Given the description of an element on the screen output the (x, y) to click on. 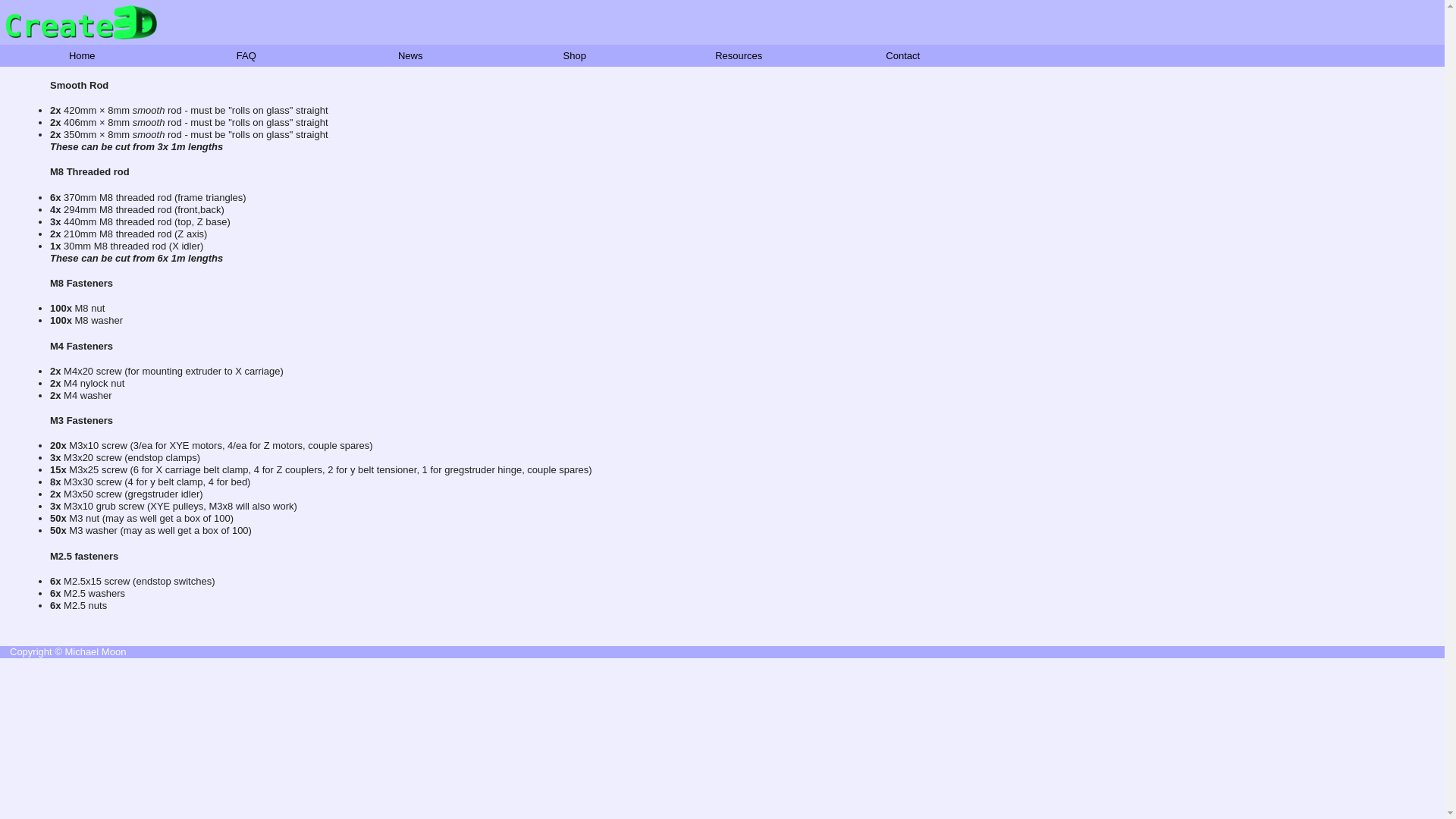
FAQ Element type: text (245, 55)
Resources Element type: text (738, 55)
Shop Element type: text (574, 55)
Contact Element type: text (902, 55)
Home Element type: text (82, 55)
News Element type: text (410, 55)
